Given the description of an element on the screen output the (x, y) to click on. 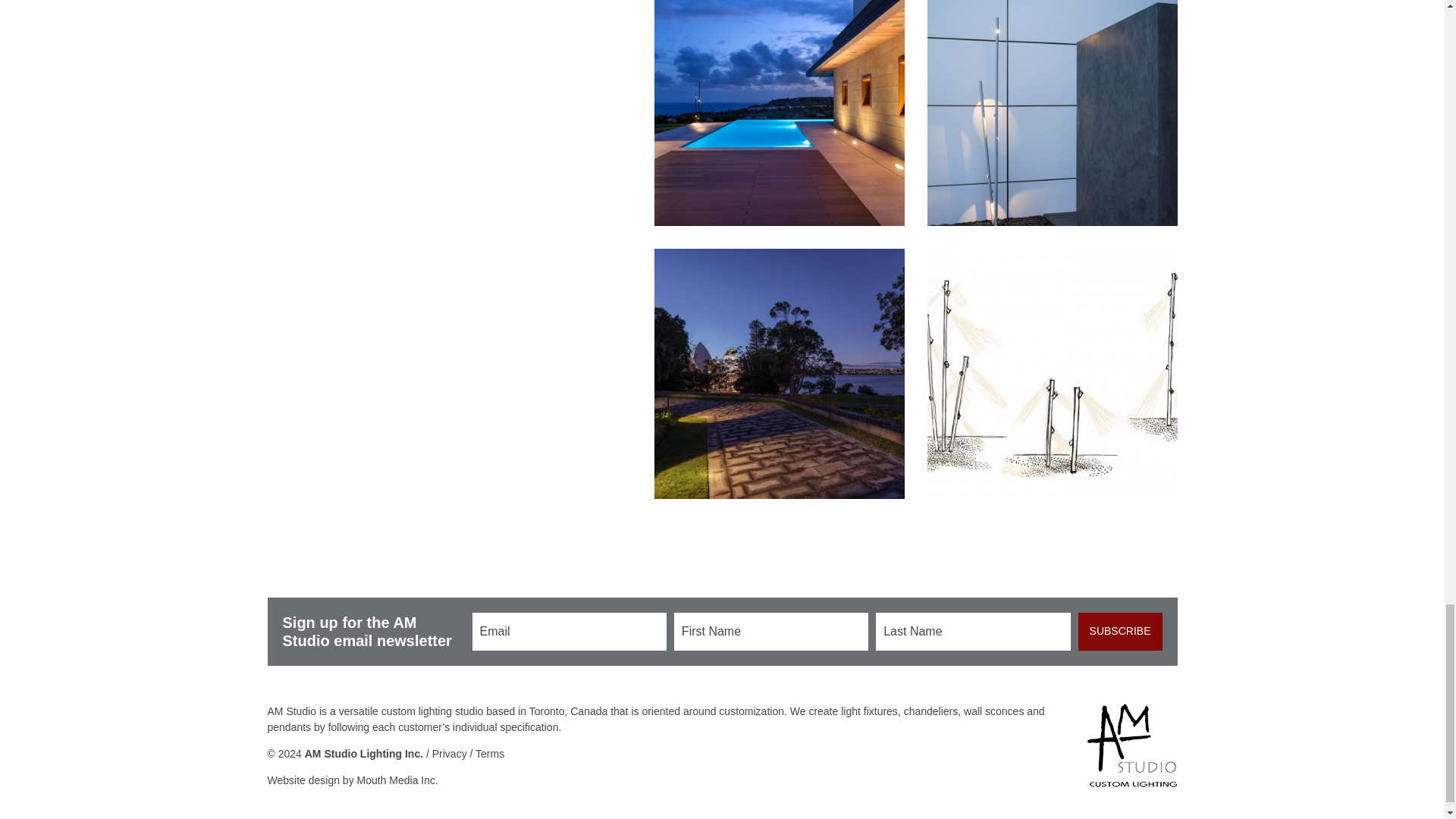
Subscribe (1119, 631)
